Given the description of an element on the screen output the (x, y) to click on. 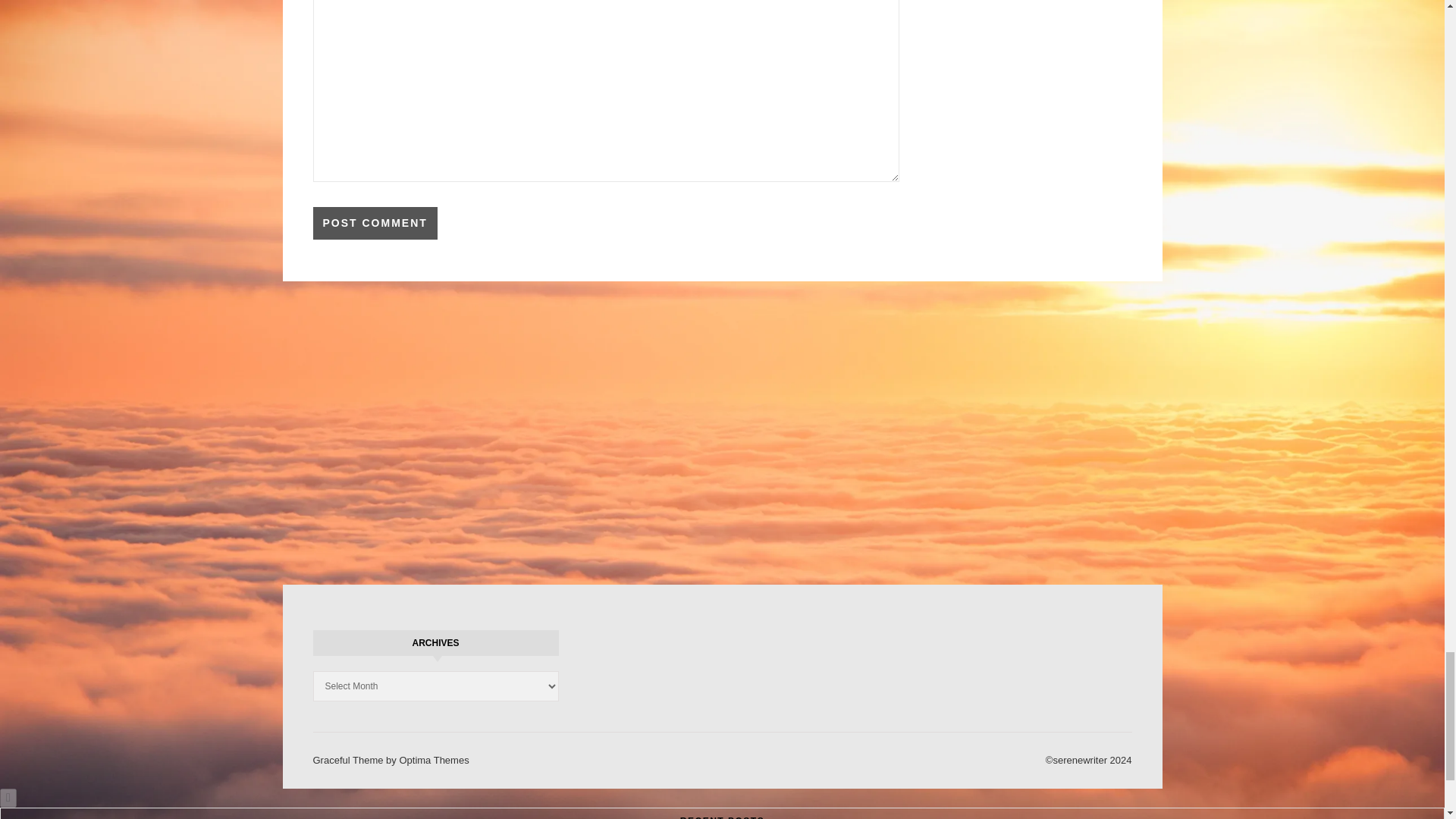
Post Comment (374, 223)
Post Comment (374, 223)
